Given the description of an element on the screen output the (x, y) to click on. 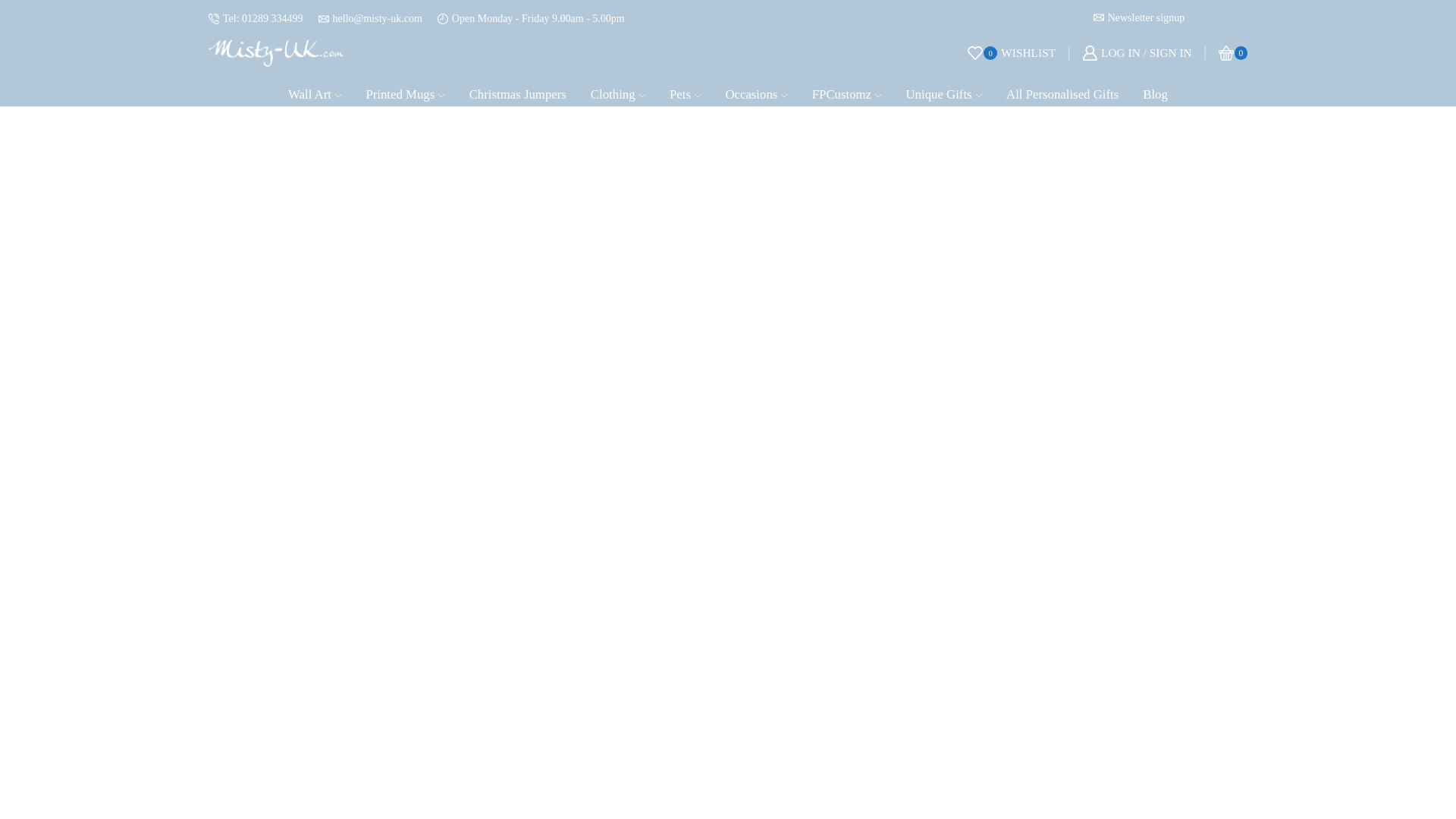
Pets (684, 90)
Printed Mugs (1011, 53)
Occasions (404, 90)
Wall Art (755, 90)
0 (314, 90)
Christmas Jumpers (1232, 52)
Clothing (517, 90)
